Given the description of an element on the screen output the (x, y) to click on. 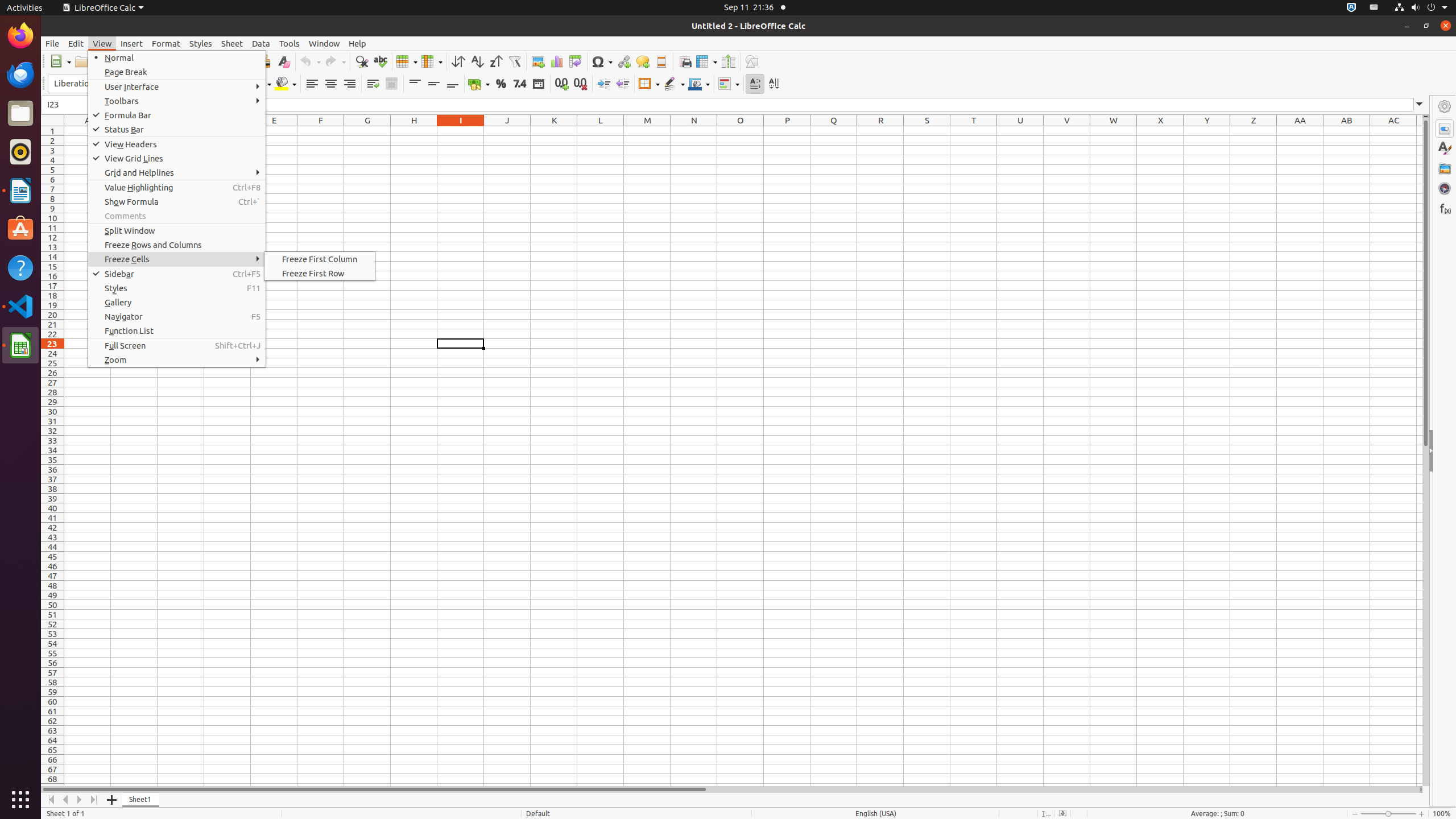
Value Highlighting Element type: check-menu-item (176, 187)
Comments Element type: menu-item (176, 215)
